Given the description of an element on the screen output the (x, y) to click on. 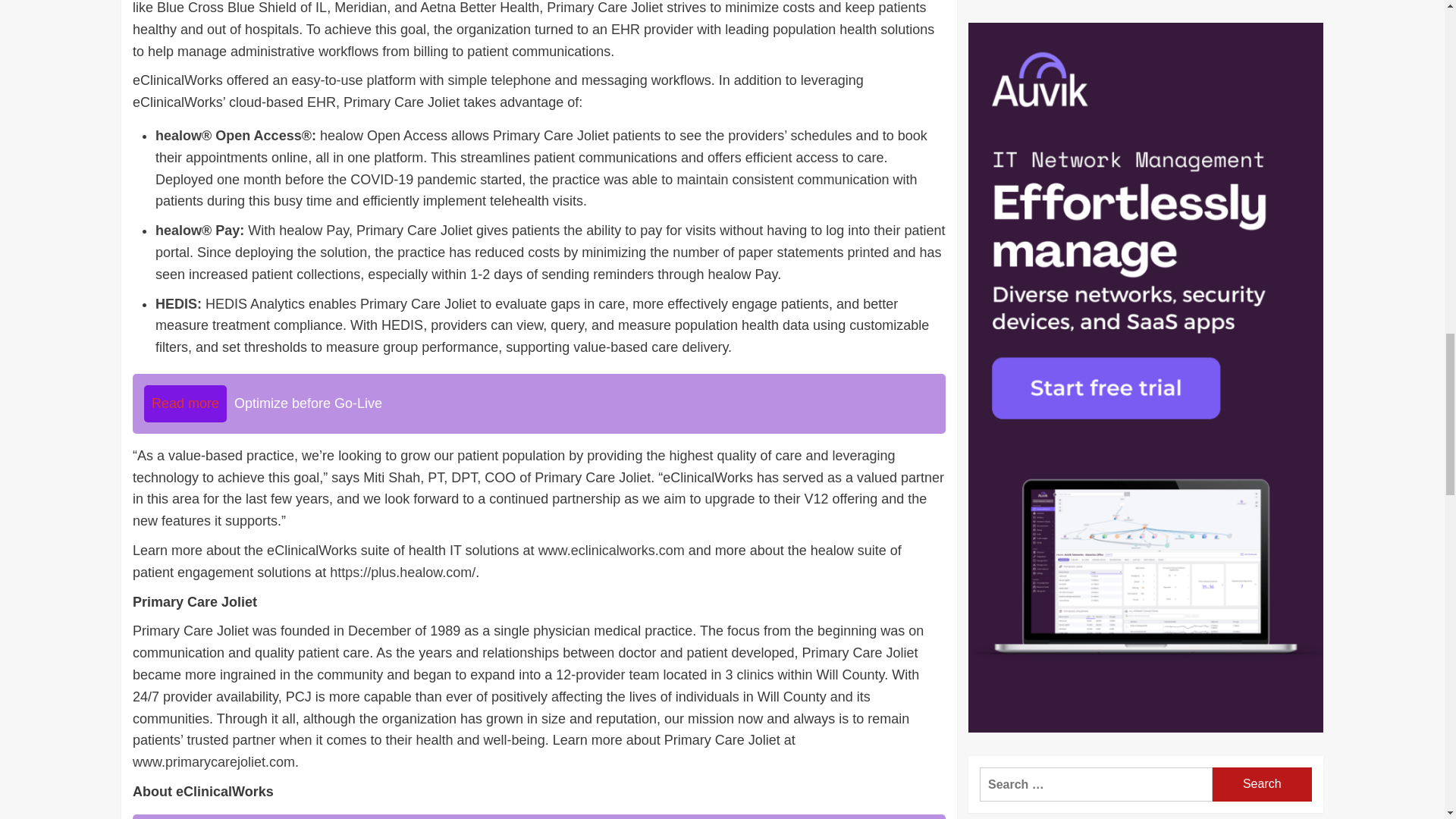
HEDIS (175, 304)
Read moreOptimize before Go-Live (538, 403)
